Given the description of an element on the screen output the (x, y) to click on. 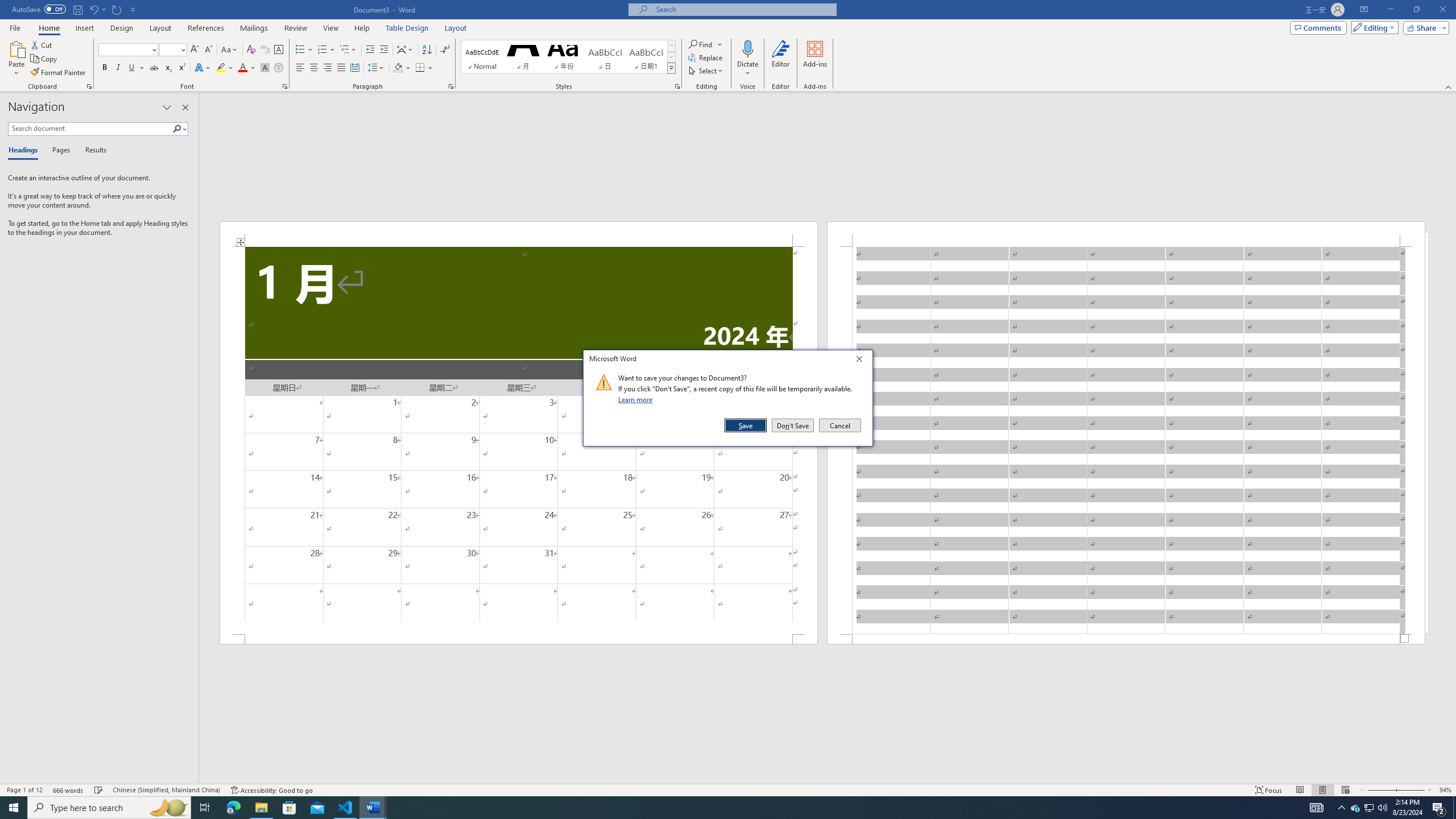
Footer -Section 1- (1126, 638)
Spelling and Grammar Check Checking (98, 790)
Font Color RGB(255, 0, 0) (241, 67)
Page Number Page 1 of 12 (24, 790)
